Given the description of an element on the screen output the (x, y) to click on. 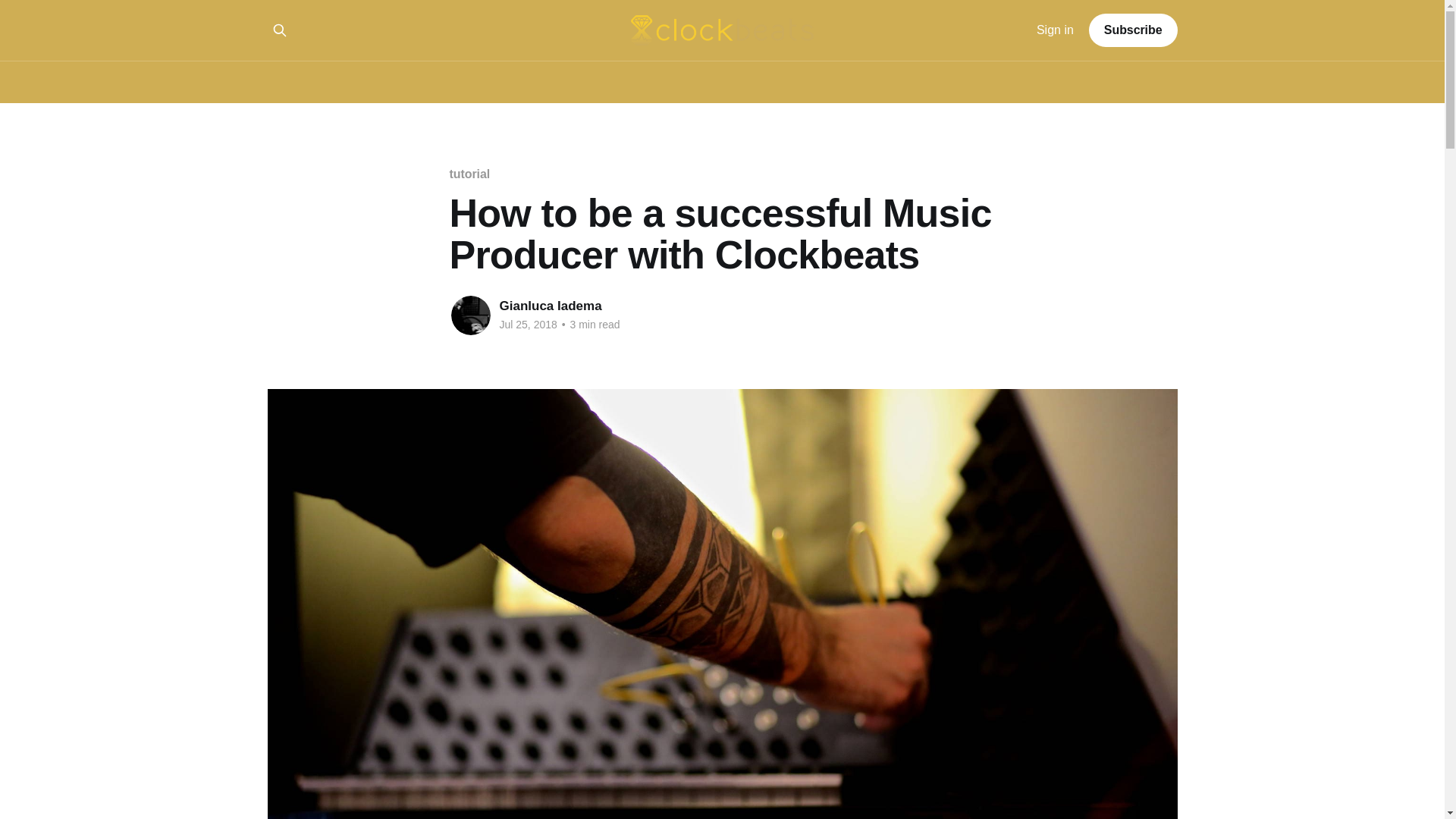
Sign in (1055, 30)
Subscribe (1133, 29)
tutorial (468, 173)
Gianluca Iadema (550, 305)
